Given the description of an element on the screen output the (x, y) to click on. 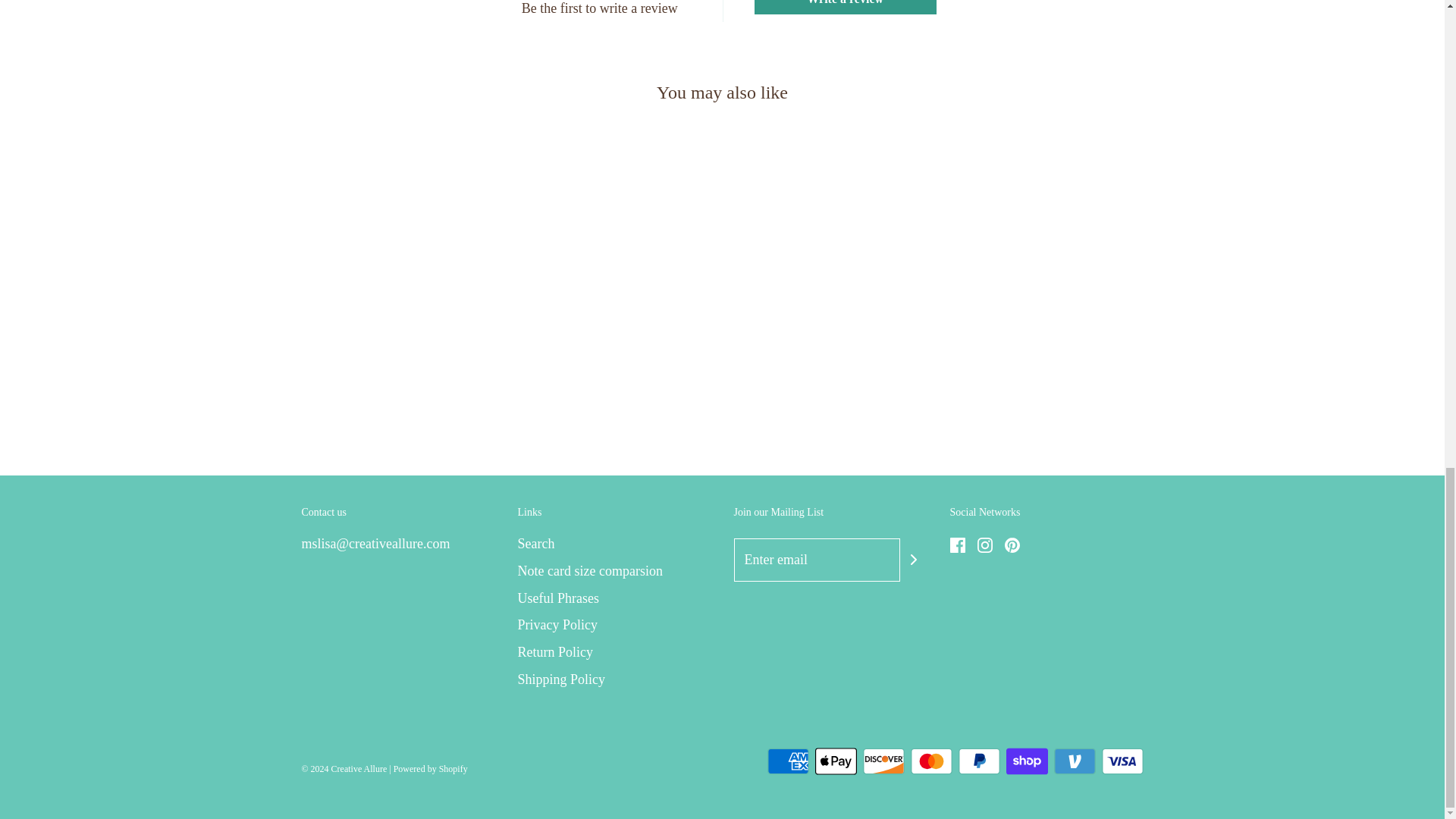
American Express (788, 761)
Facebook icon (956, 544)
Pinterest icon (1011, 544)
Apple Pay (834, 761)
Instagram icon (983, 544)
